Given the description of an element on the screen output the (x, y) to click on. 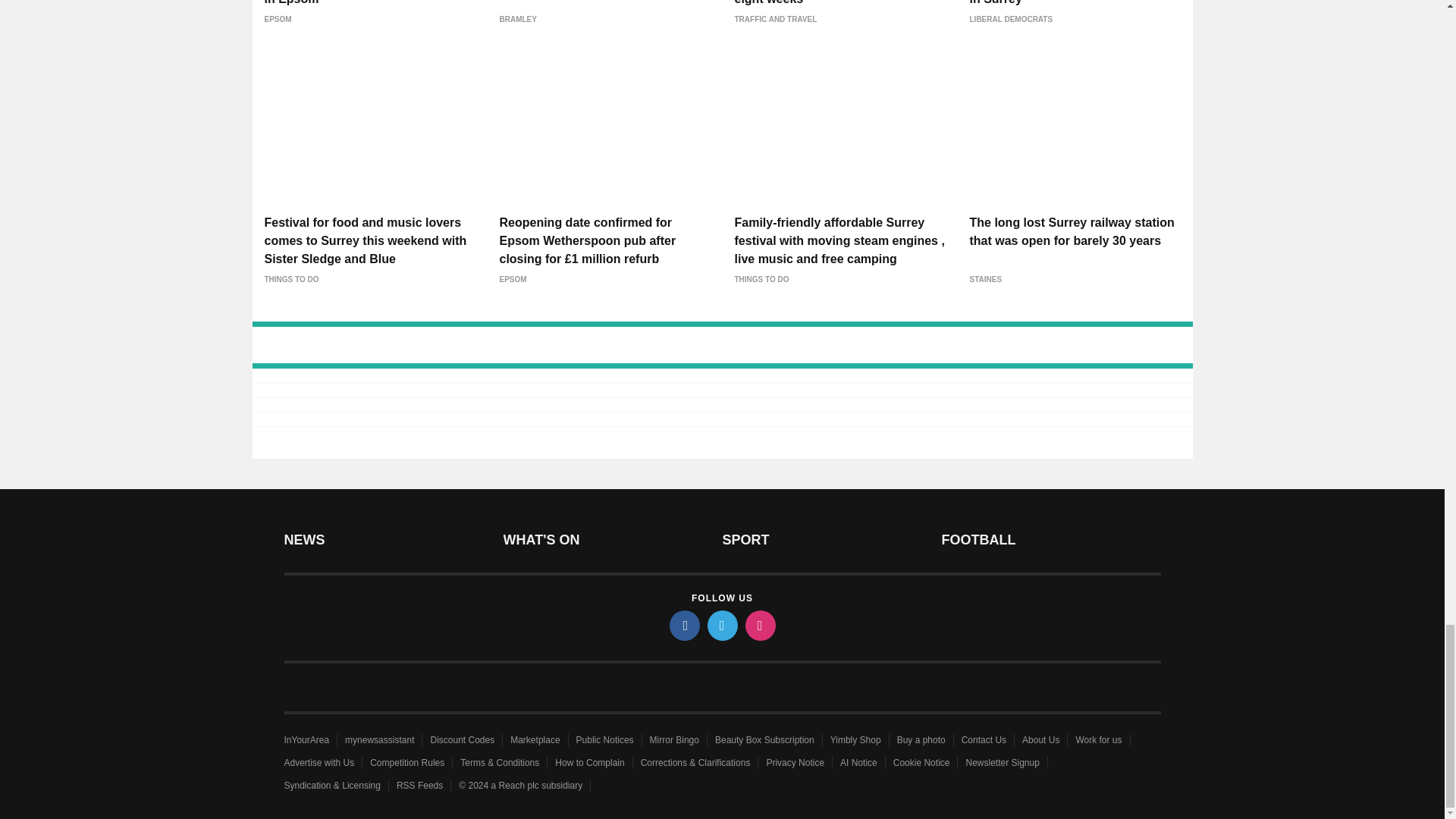
facebook (683, 625)
instagram (759, 625)
twitter (721, 625)
